Given the description of an element on the screen output the (x, y) to click on. 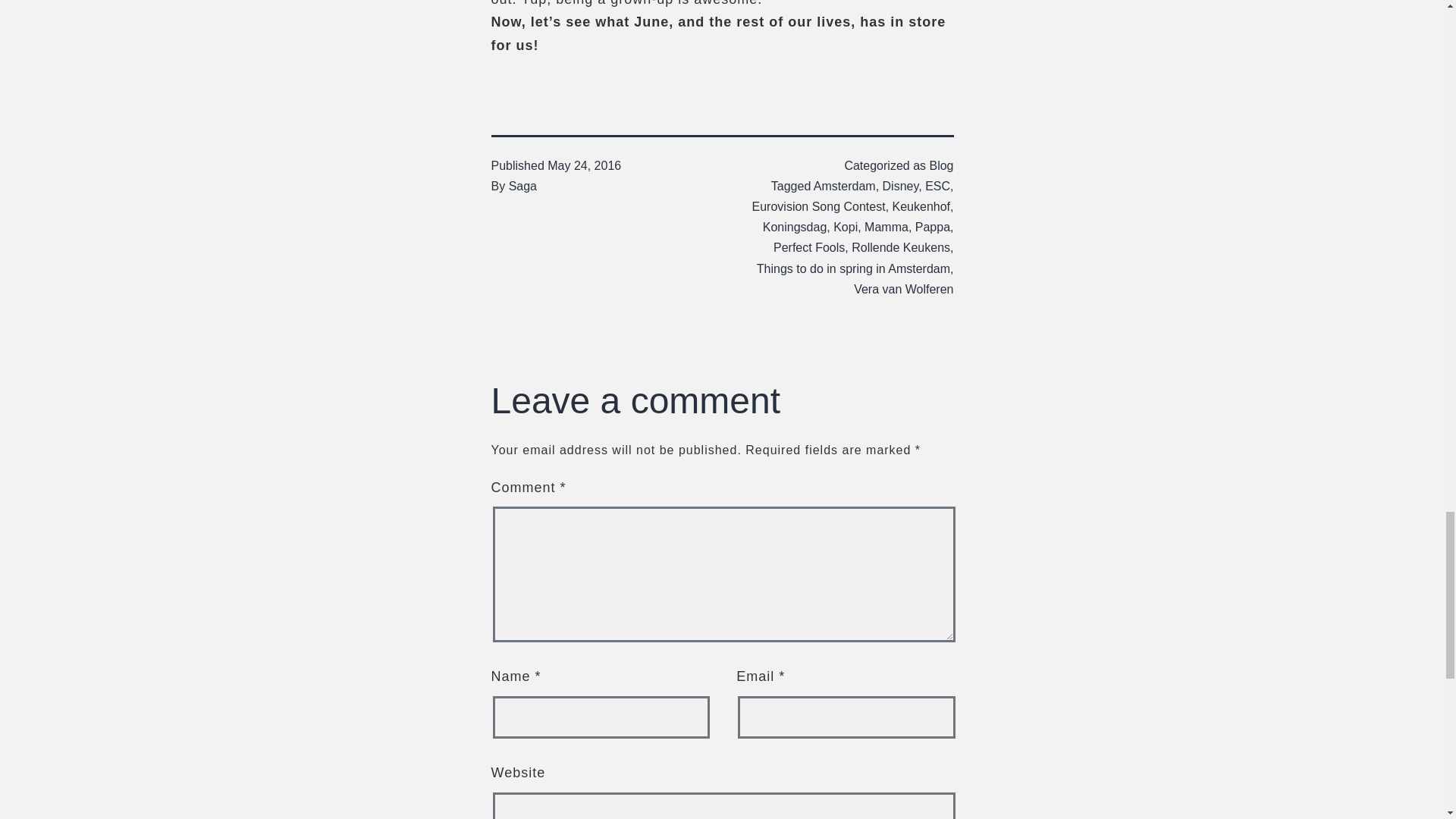
Vera van Wolferen (903, 288)
Pappa (932, 226)
Rollende Keukens (900, 246)
Perfect Fools (808, 246)
Eurovision Song Contest (818, 205)
Amsterdam (844, 185)
Koningsdag (794, 226)
ESC (937, 185)
Mamma (886, 226)
Blog (940, 164)
